Given the description of an element on the screen output the (x, y) to click on. 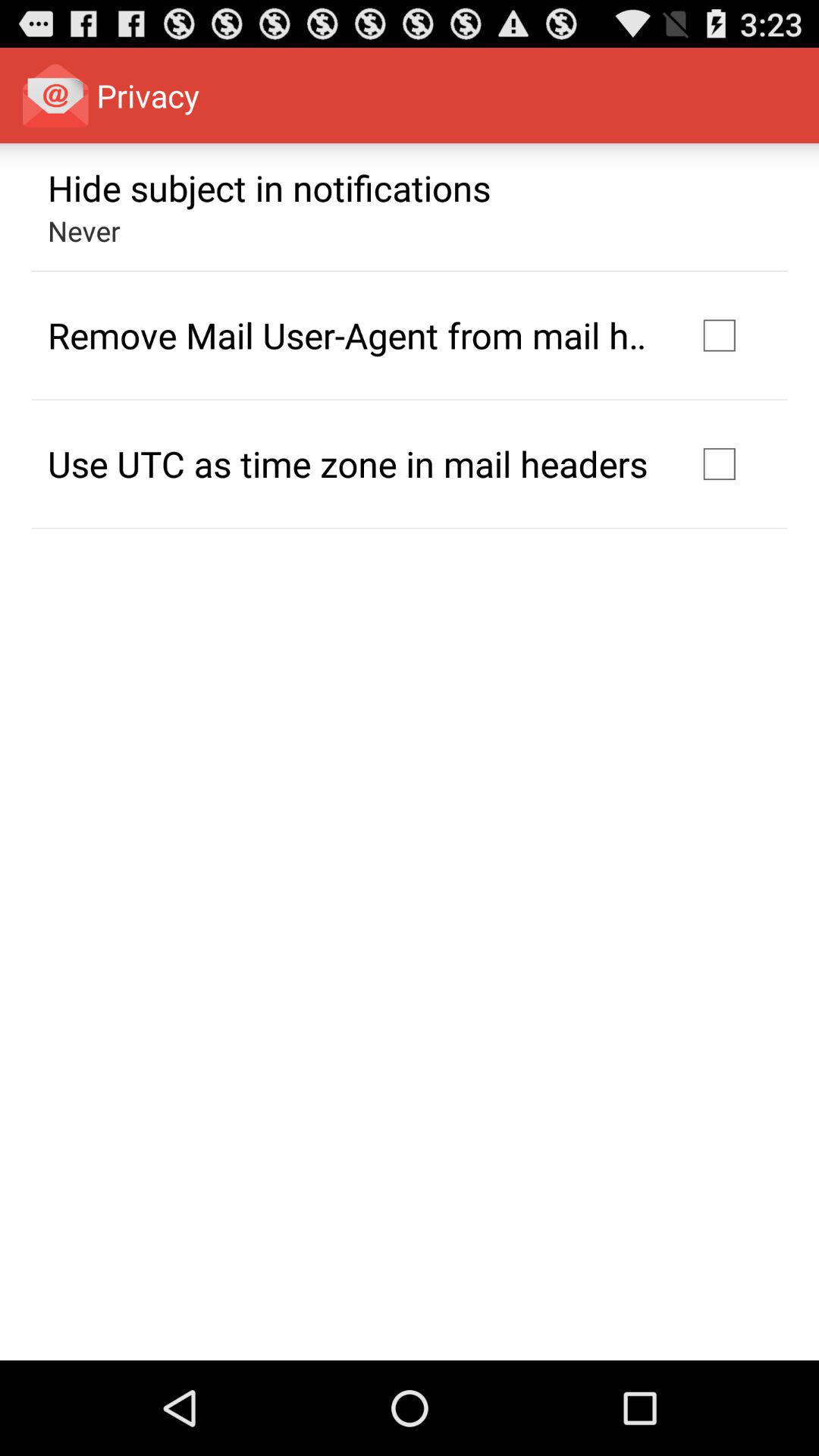
click hide subject in icon (268, 187)
